Given the description of an element on the screen output the (x, y) to click on. 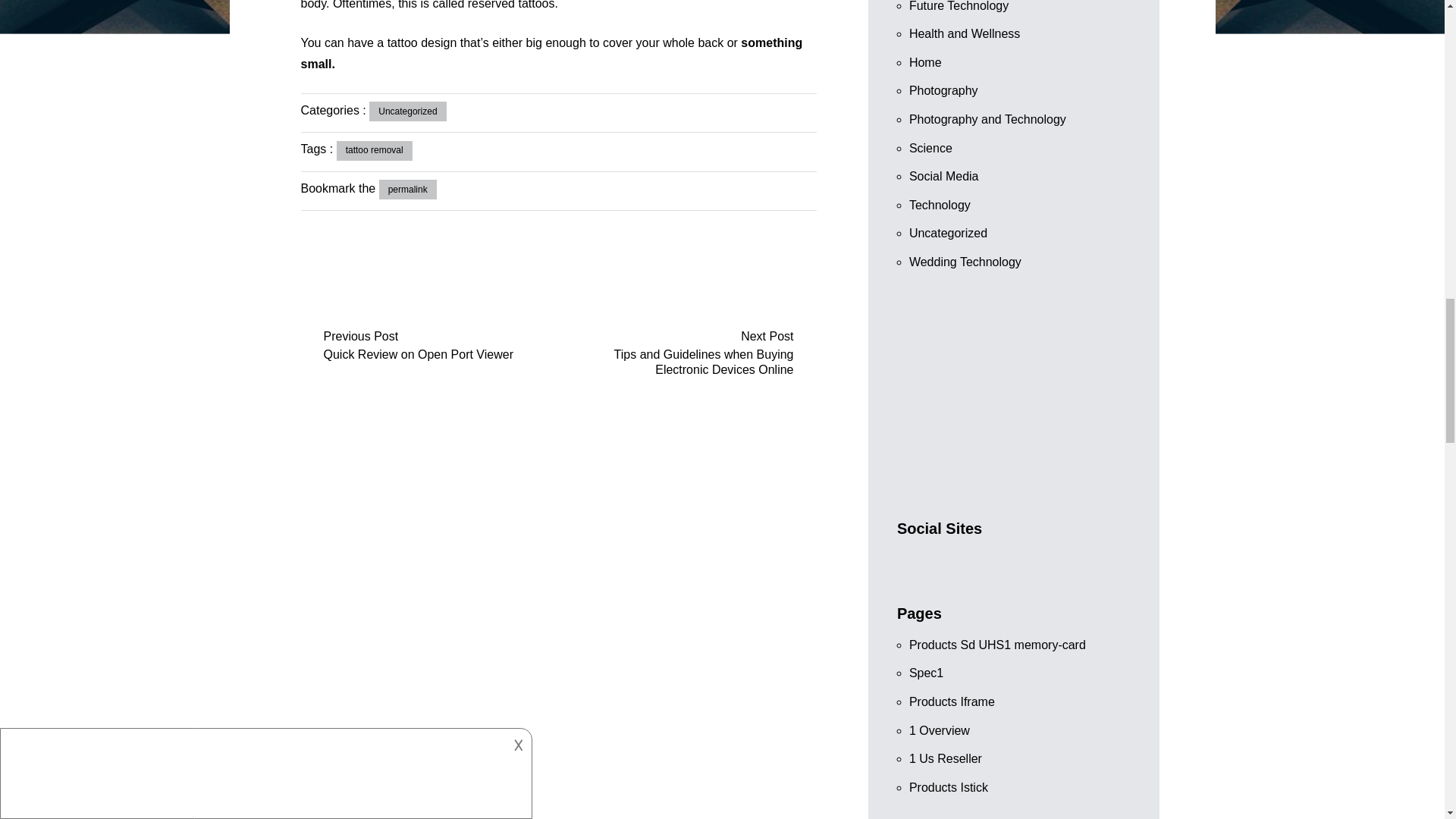
Permalink to Best Tattoo Ideas for Girls (407, 189)
Uncategorized (407, 111)
Tips and Guidelines when Buying Electronic Devices Online (675, 361)
Quick Review on Open Port Viewer (440, 354)
tattoo removal (374, 150)
permalink (407, 189)
